Given the description of an element on the screen output the (x, y) to click on. 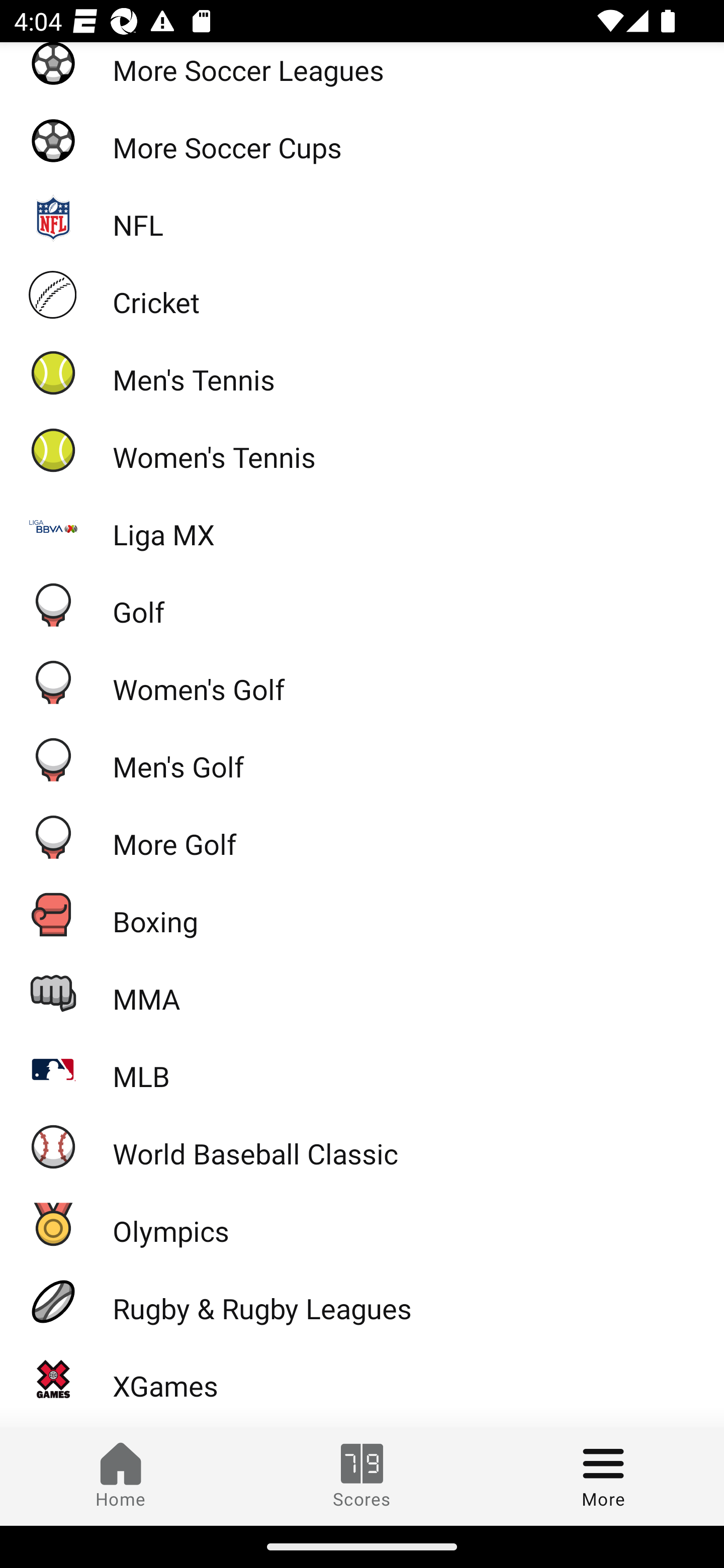
More Soccer Leagues (362, 71)
More Soccer Cups (362, 139)
NFL (362, 216)
Cricket G Cricket (362, 294)
Men's Tennis (362, 371)
Women's Tennis (362, 449)
Liga MX (362, 527)
Golf (362, 604)
Women's Golf (362, 681)
Men's Golf (362, 759)
More Golf (362, 836)
Boxing (362, 913)
MMA (362, 991)
MLB (362, 1068)
World Baseball Classic (362, 1146)
Olympics (362, 1223)
Rugby & Rugby Leagues (362, 1300)
XGames (362, 1378)
Home (120, 1475)
Scores (361, 1475)
